Given the description of an element on the screen output the (x, y) to click on. 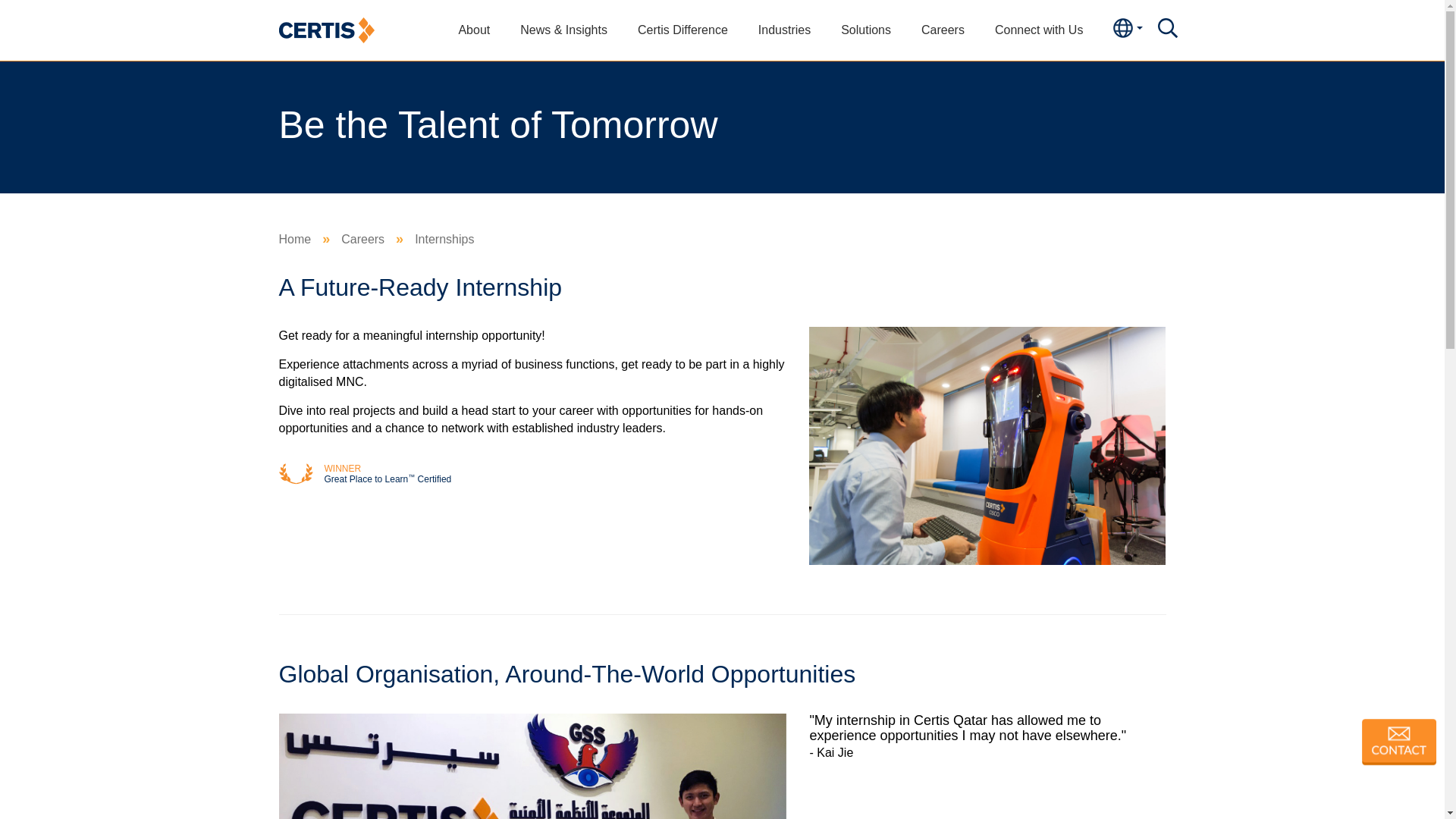
Industries (783, 30)
About (473, 30)
Certis Group (326, 29)
Certis Difference (682, 30)
Connect with Us (1039, 30)
Careers (942, 30)
Solutions (865, 30)
